Given the description of an element on the screen output the (x, y) to click on. 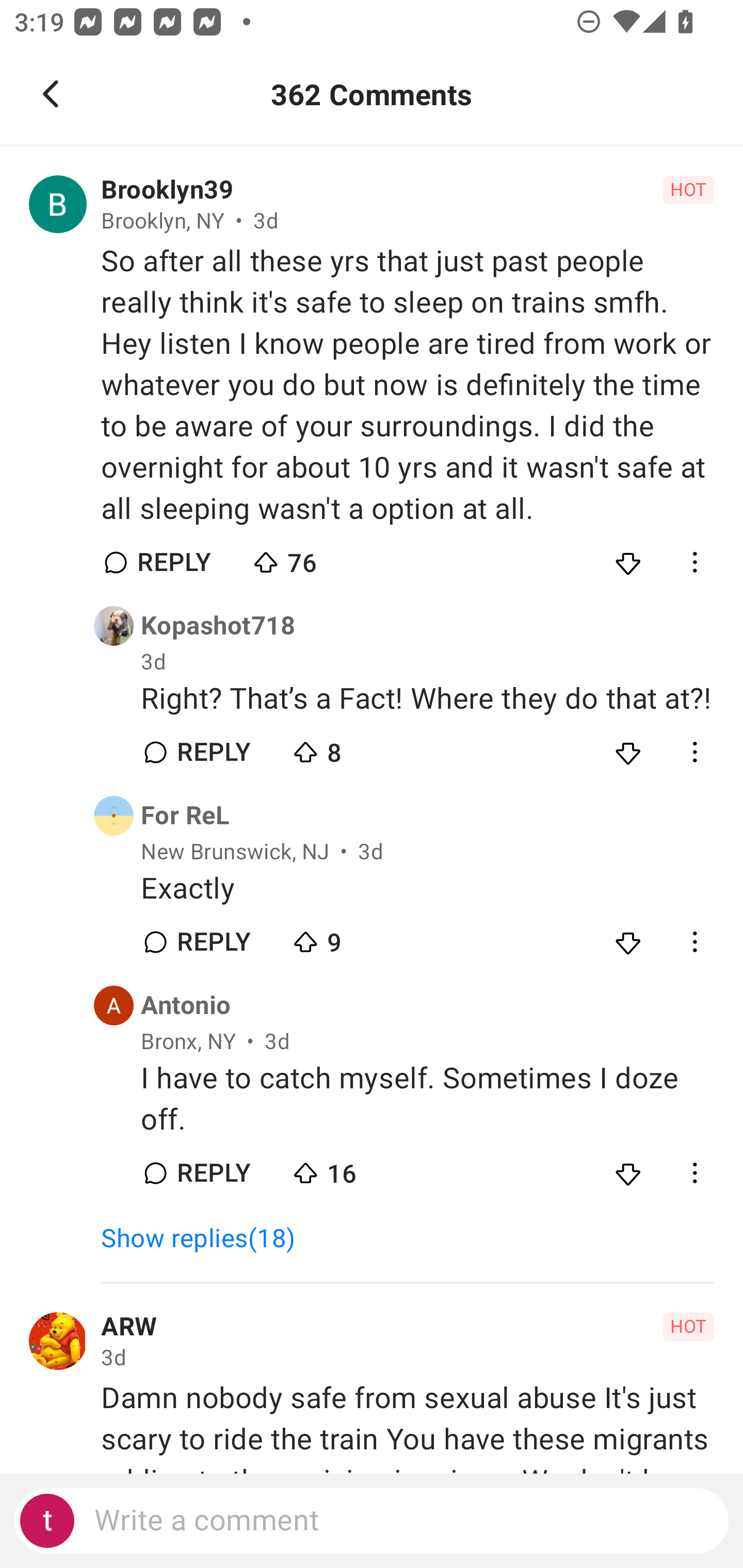
Navigate up (50, 93)
Brooklyn39 (167, 190)
76 (320, 557)
REPLY (173, 562)
Kopashot718 (217, 626)
Right? That’s a Fact! Where they do that at?! (427, 699)
8 (360, 747)
REPLY (213, 751)
For ReL (185, 816)
Exactly (427, 888)
9 (360, 937)
REPLY (213, 941)
Antonio (186, 1005)
I have to catch myself. Sometimes I doze off. (427, 1098)
16 (360, 1168)
REPLY (213, 1173)
Show replies(18) (207, 1238)
ARW (129, 1327)
Write a comment (371, 1520)
